Given the description of an element on the screen output the (x, y) to click on. 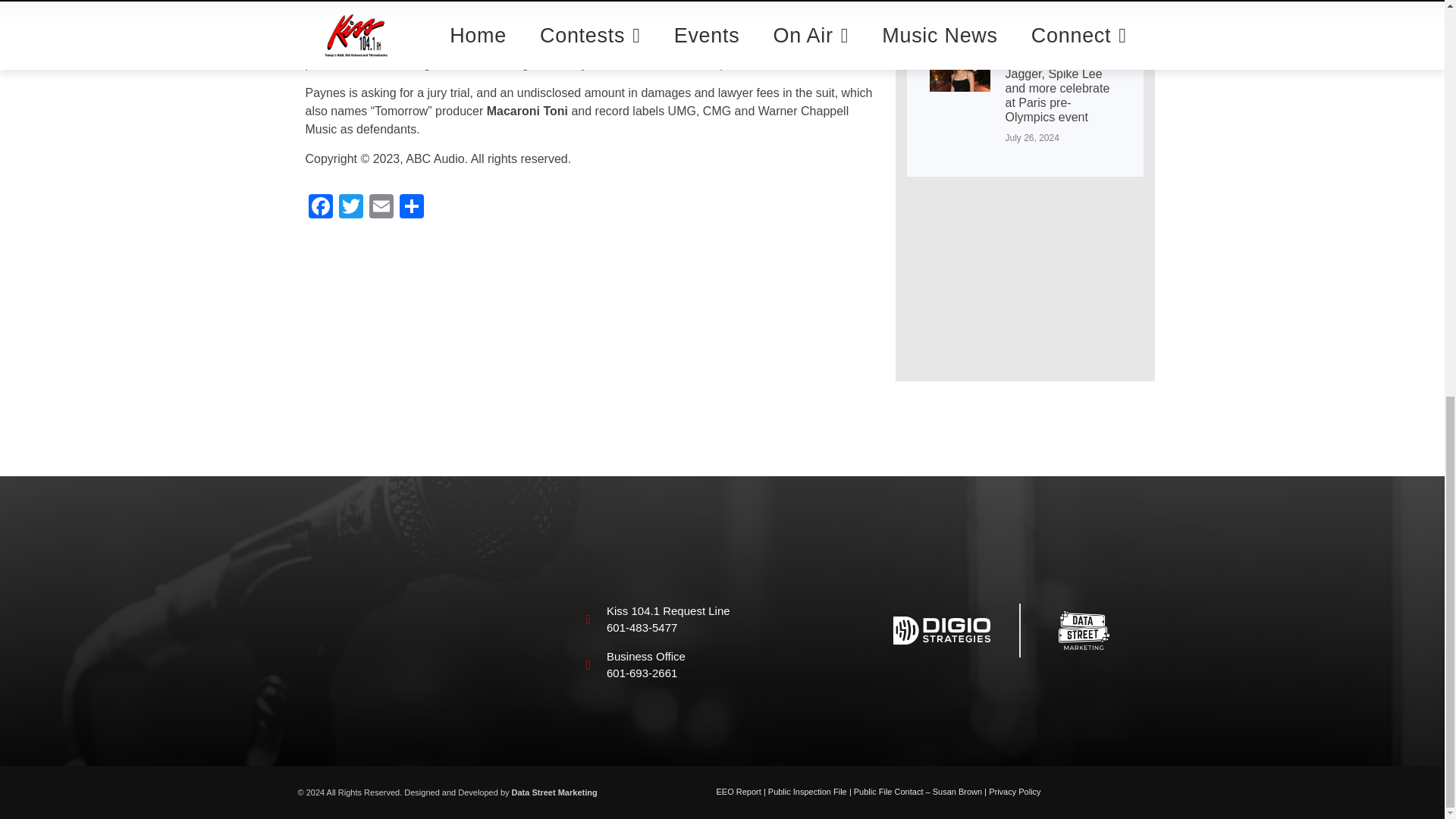
Twitter (349, 207)
Email (380, 207)
Facebook (319, 207)
